Given the description of an element on the screen output the (x, y) to click on. 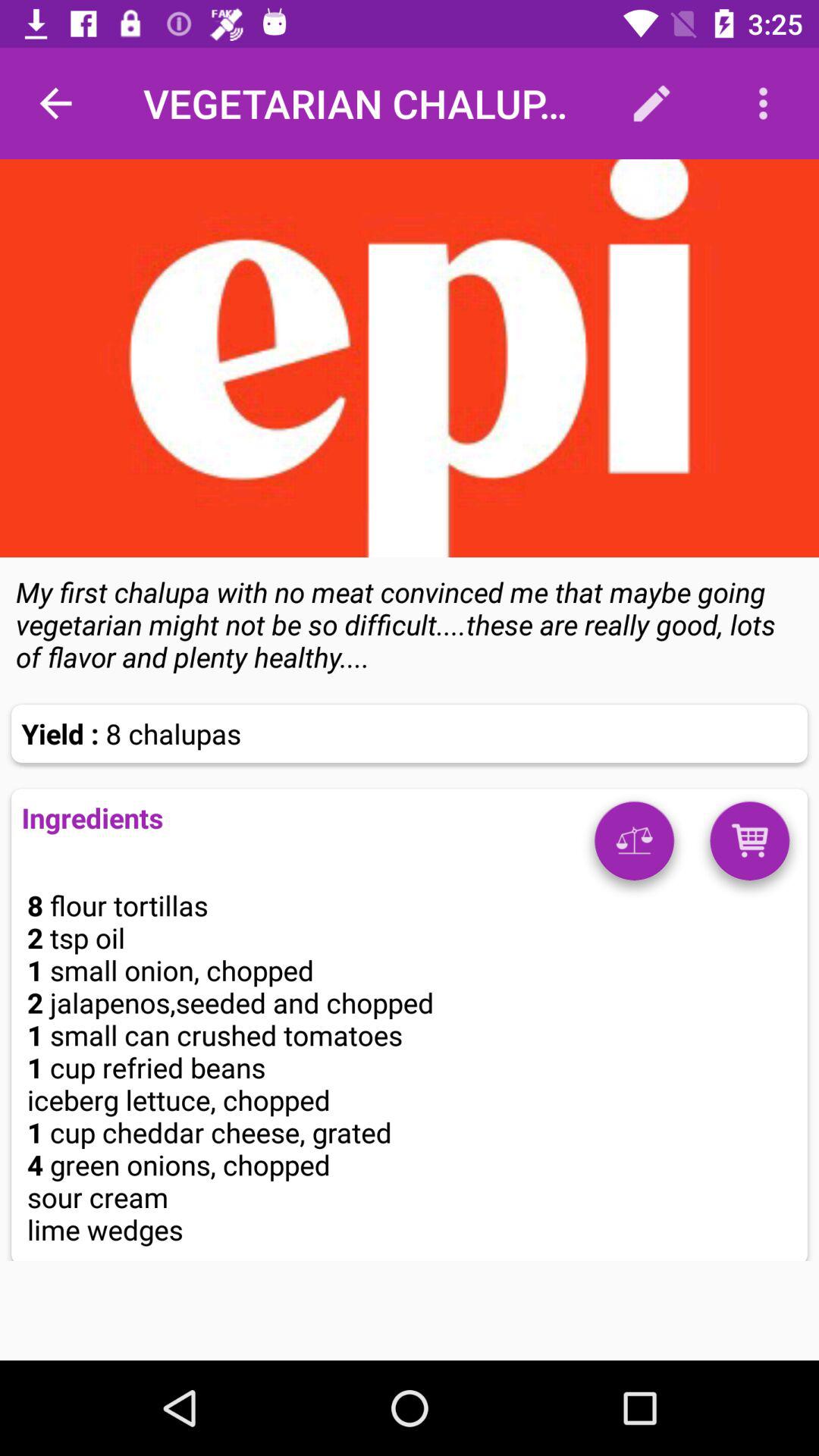
turn off icon to the left of the vegetarian chalupas icon (55, 103)
